Given the description of an element on the screen output the (x, y) to click on. 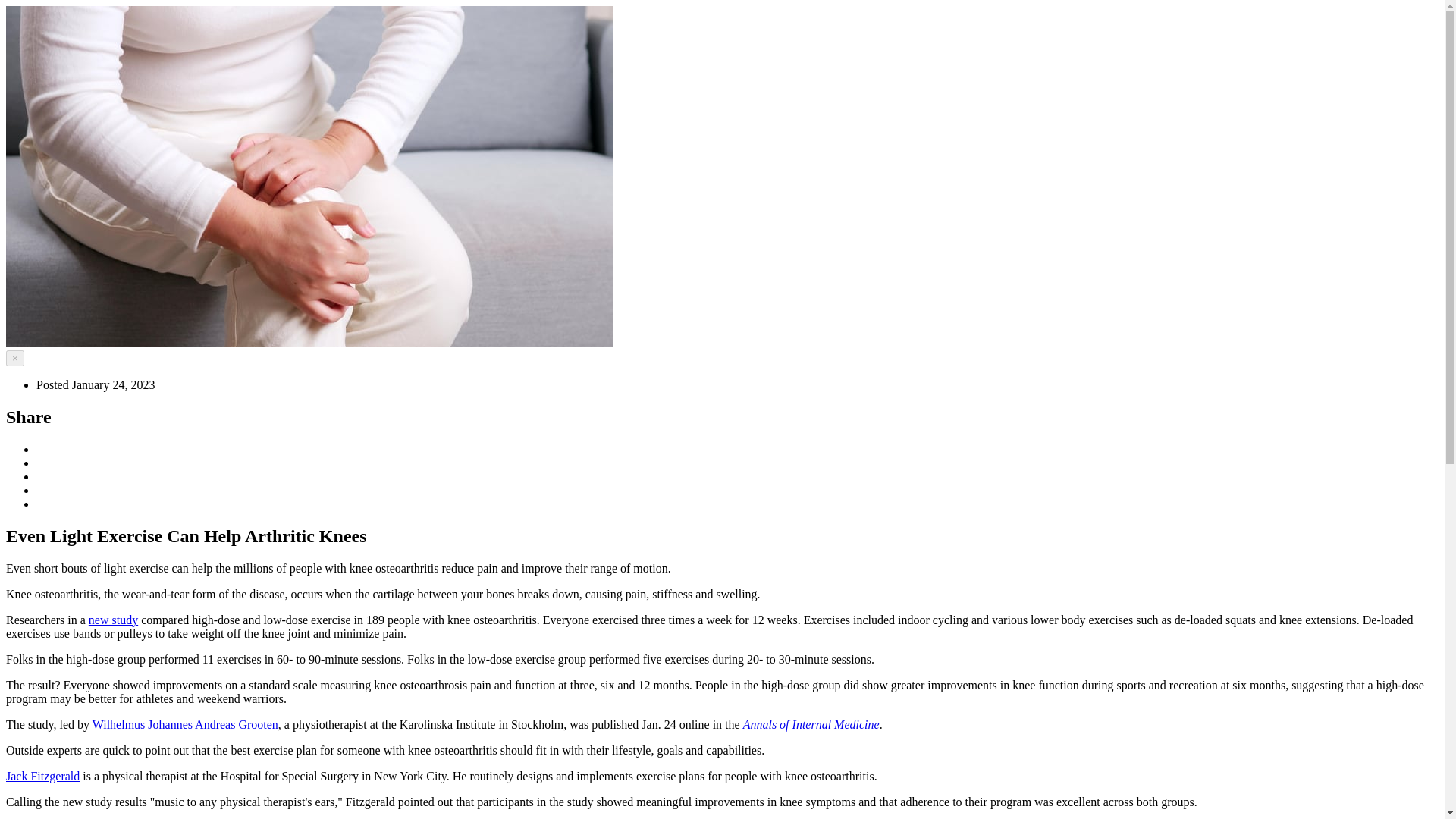
Annals of Internal Medicine (810, 724)
new study (113, 619)
Jack Fitzgerald (42, 775)
Wilhelmus Johannes Andreas Grooten (185, 724)
